Given the description of an element on the screen output the (x, y) to click on. 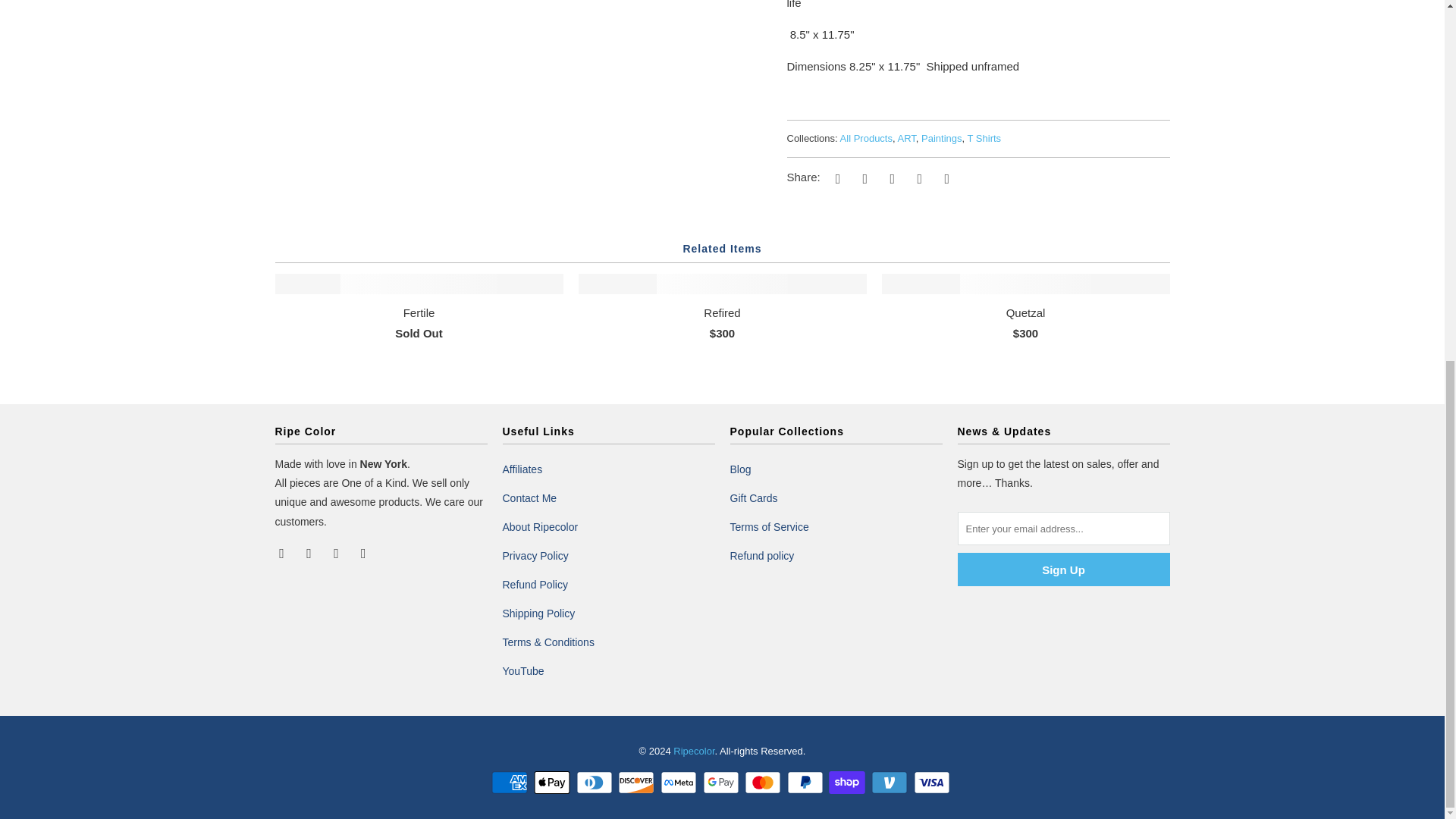
Share this on Twitter (835, 177)
ART (906, 138)
Sign Up (1062, 569)
Share this on Facebook (862, 177)
All Products (866, 138)
Apple Pay (553, 782)
ART (906, 138)
Venmo (890, 782)
Shop Pay (847, 782)
PayPal (807, 782)
T Shirts (984, 138)
All Products (866, 138)
Discover (637, 782)
Paintings (940, 138)
Share this on Pinterest (889, 177)
